Given the description of an element on the screen output the (x, y) to click on. 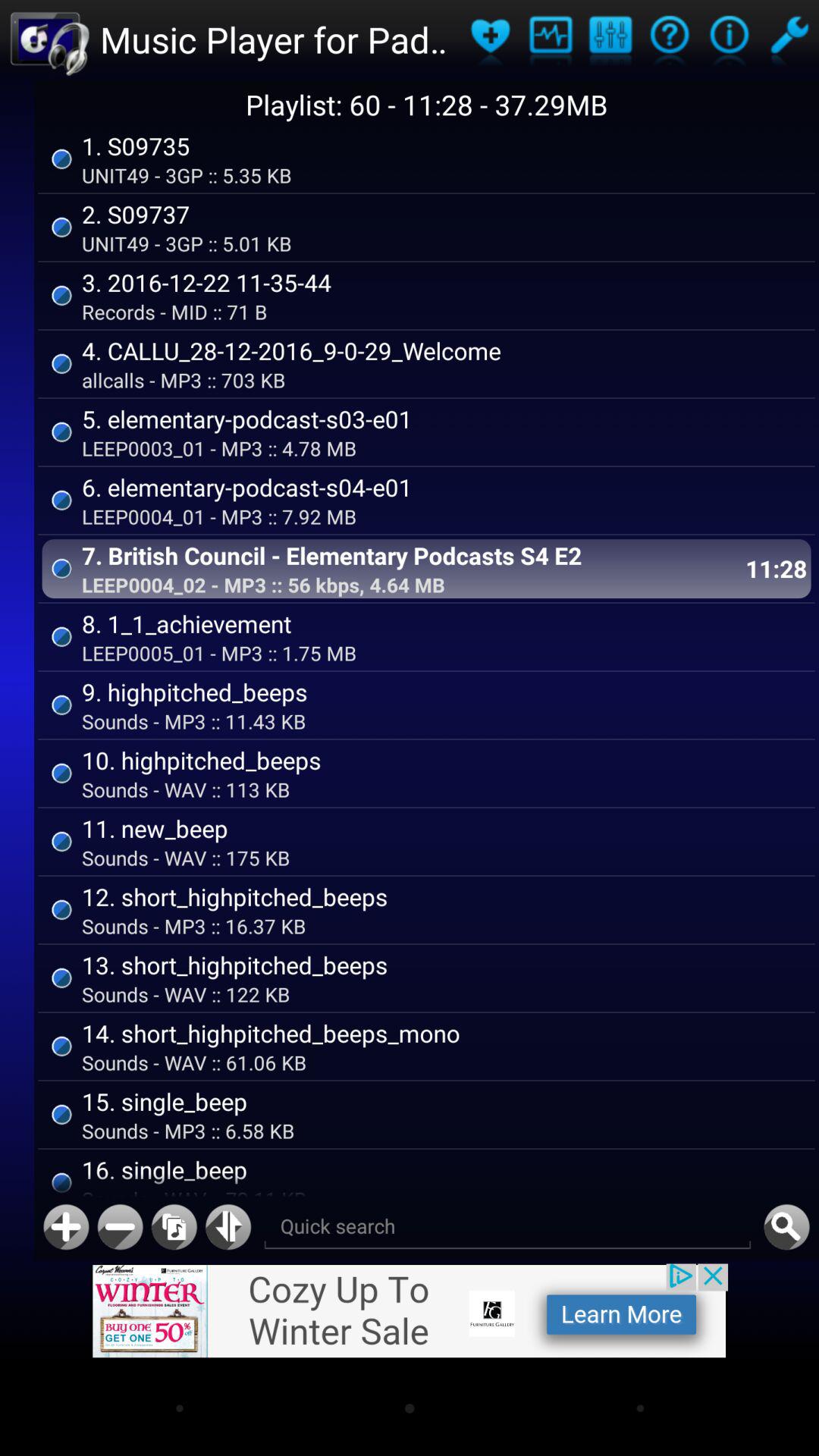
select detail (729, 39)
